Given the description of an element on the screen output the (x, y) to click on. 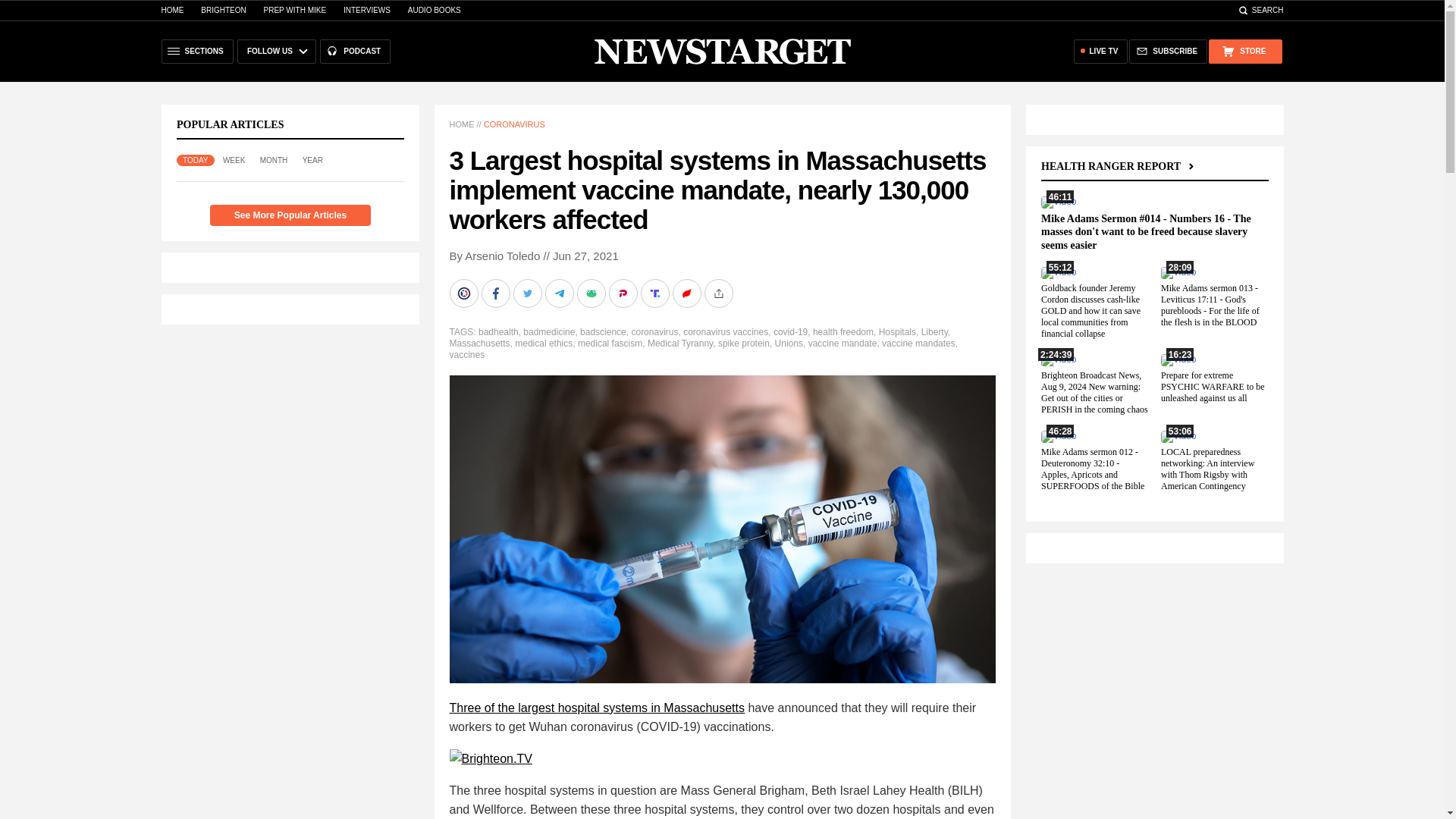
Share on Truth.Social (655, 293)
BRIGHTEON (223, 9)
46:28 (1058, 435)
See More Popular Articles (289, 215)
More Share Options (719, 293)
Share on Telegram (560, 293)
2:24:39 (1058, 359)
SEARCH (1260, 9)
28:09 (1177, 271)
